Given the description of an element on the screen output the (x, y) to click on. 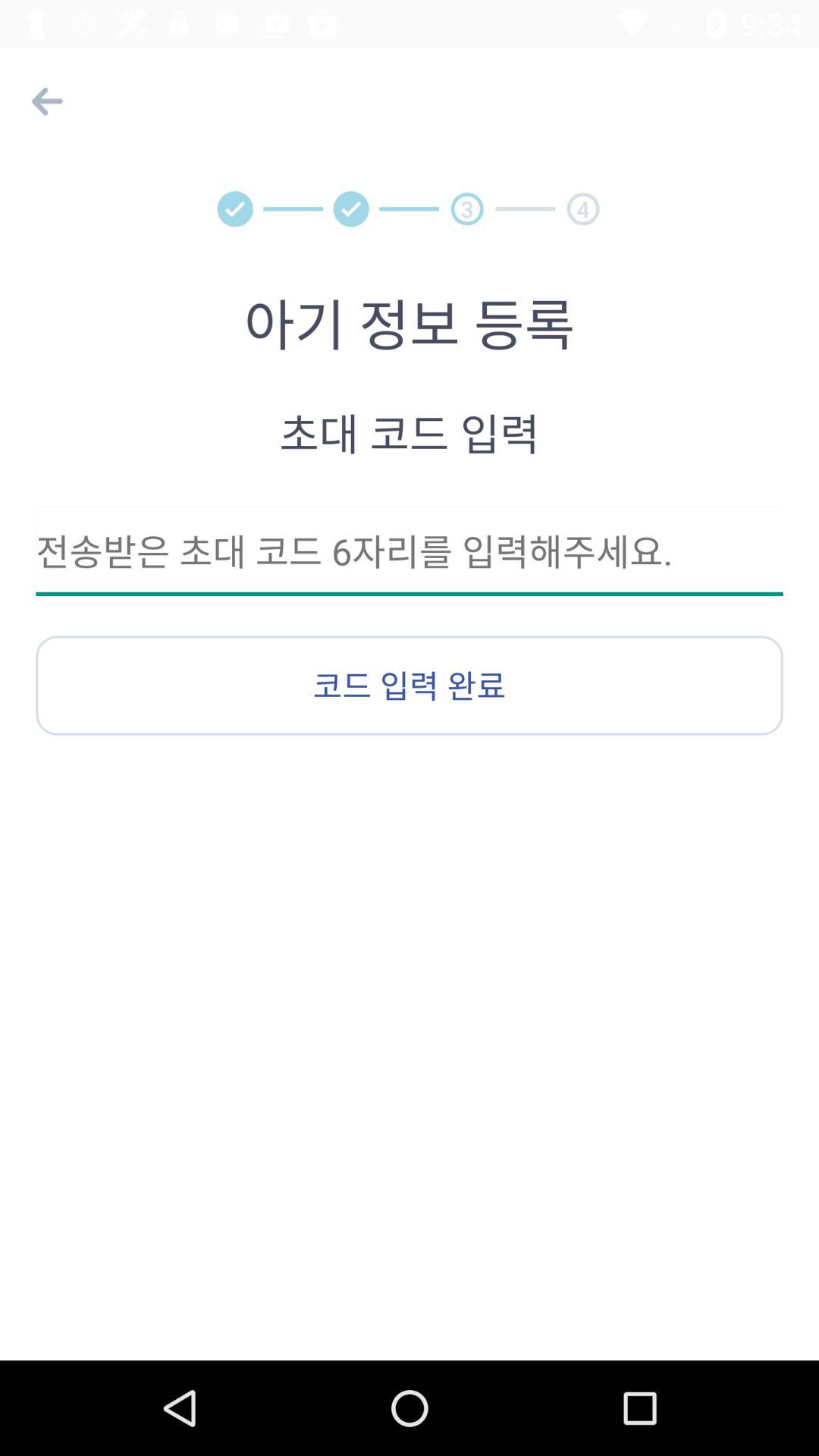
input text (409, 551)
